Given the description of an element on the screen output the (x, y) to click on. 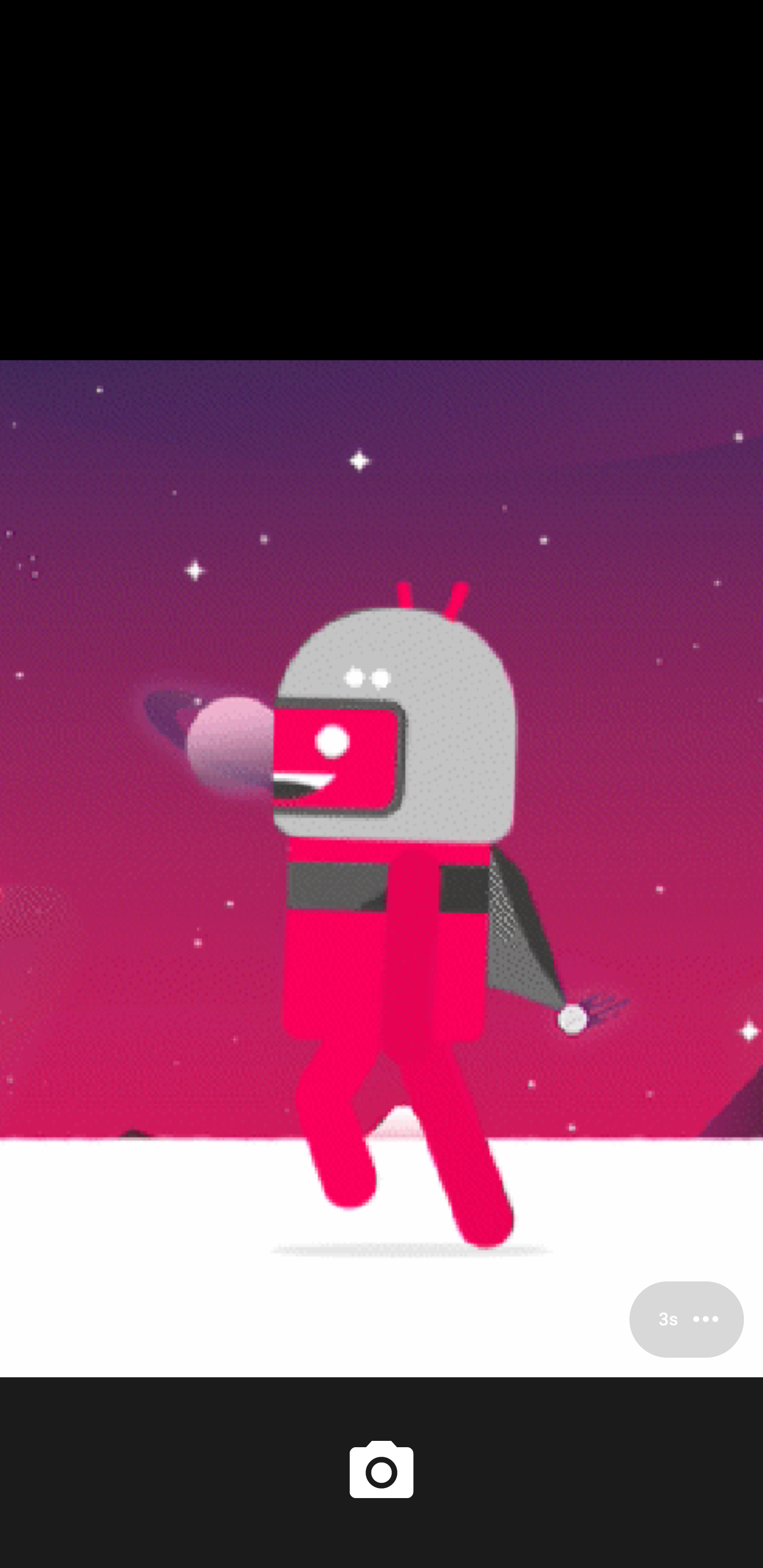
Options (686, 1319)
Shutter (381, 1472)
